Given the description of an element on the screen output the (x, y) to click on. 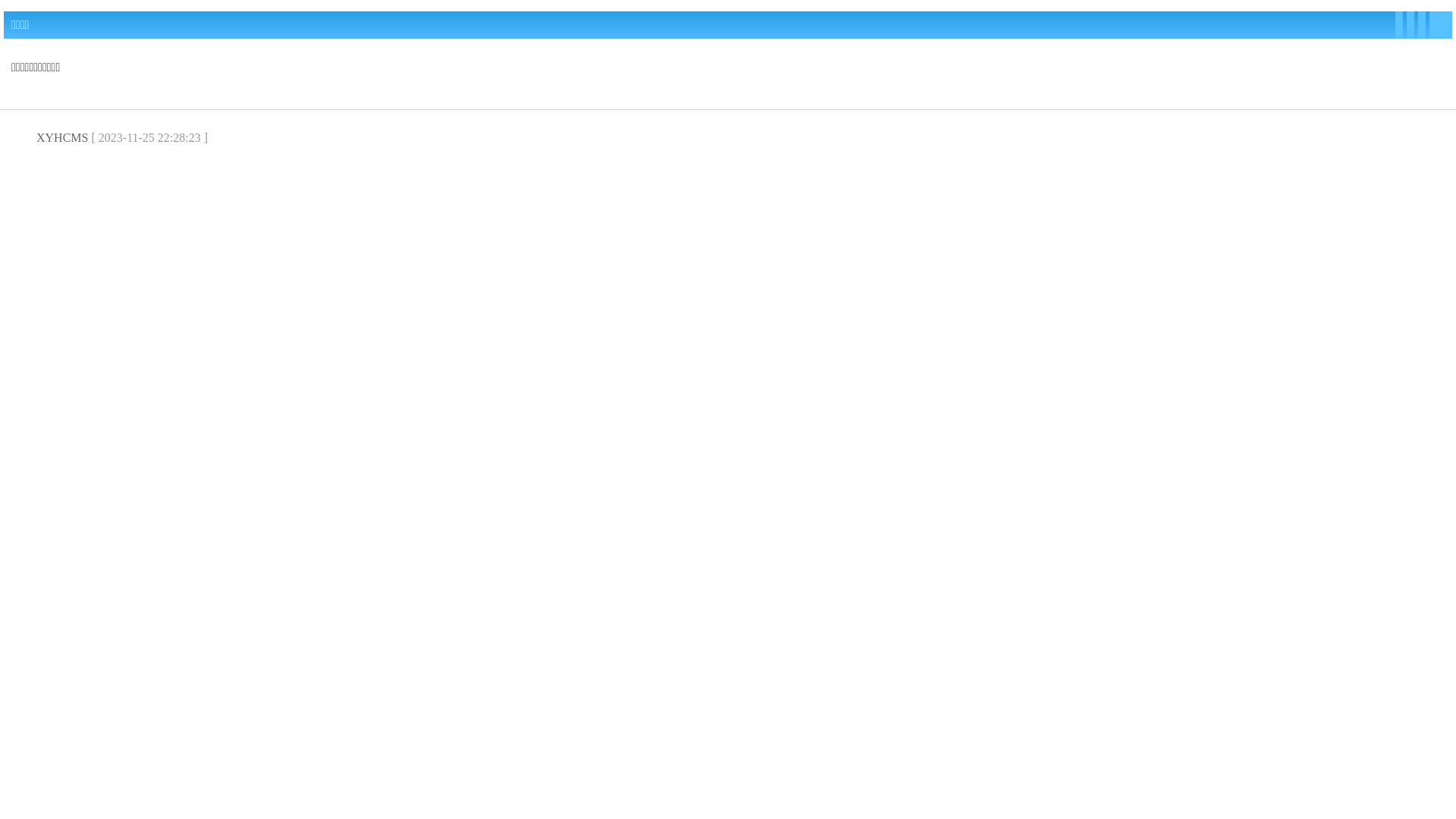
XYHCMS Element type: text (61, 137)
